Given the description of an element on the screen output the (x, y) to click on. 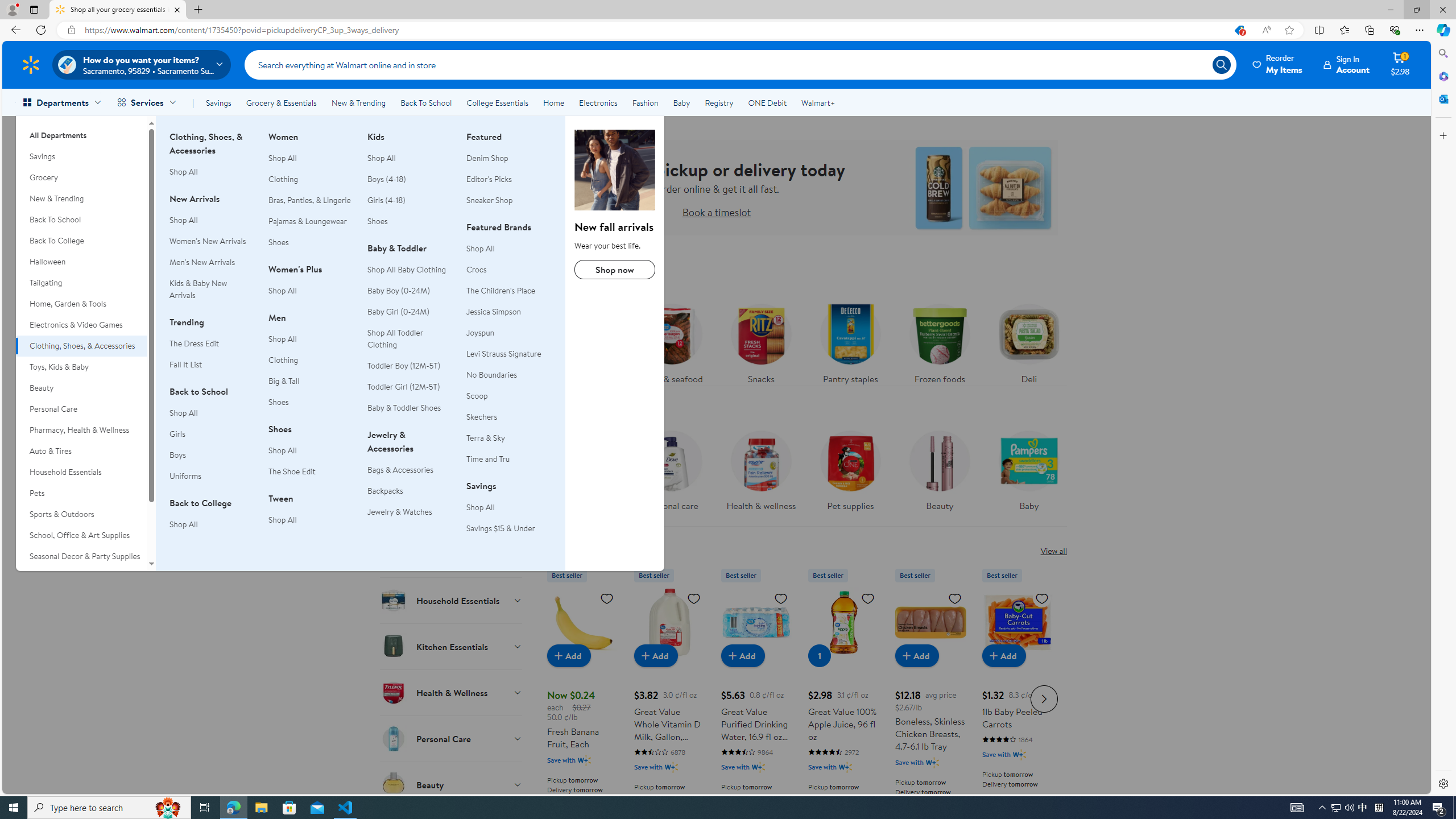
Health & Wellness (451, 692)
Beauty (451, 784)
Clothing, Shoes, & Accessories (81, 345)
The Children's Place (500, 290)
Auto & Tires (81, 450)
Big & Tall (283, 380)
Walmart Plus (1018, 754)
Frozen (451, 415)
Editor's Picks (508, 179)
Household Essentials (451, 600)
Personal Care (81, 408)
